Given the description of an element on the screen output the (x, y) to click on. 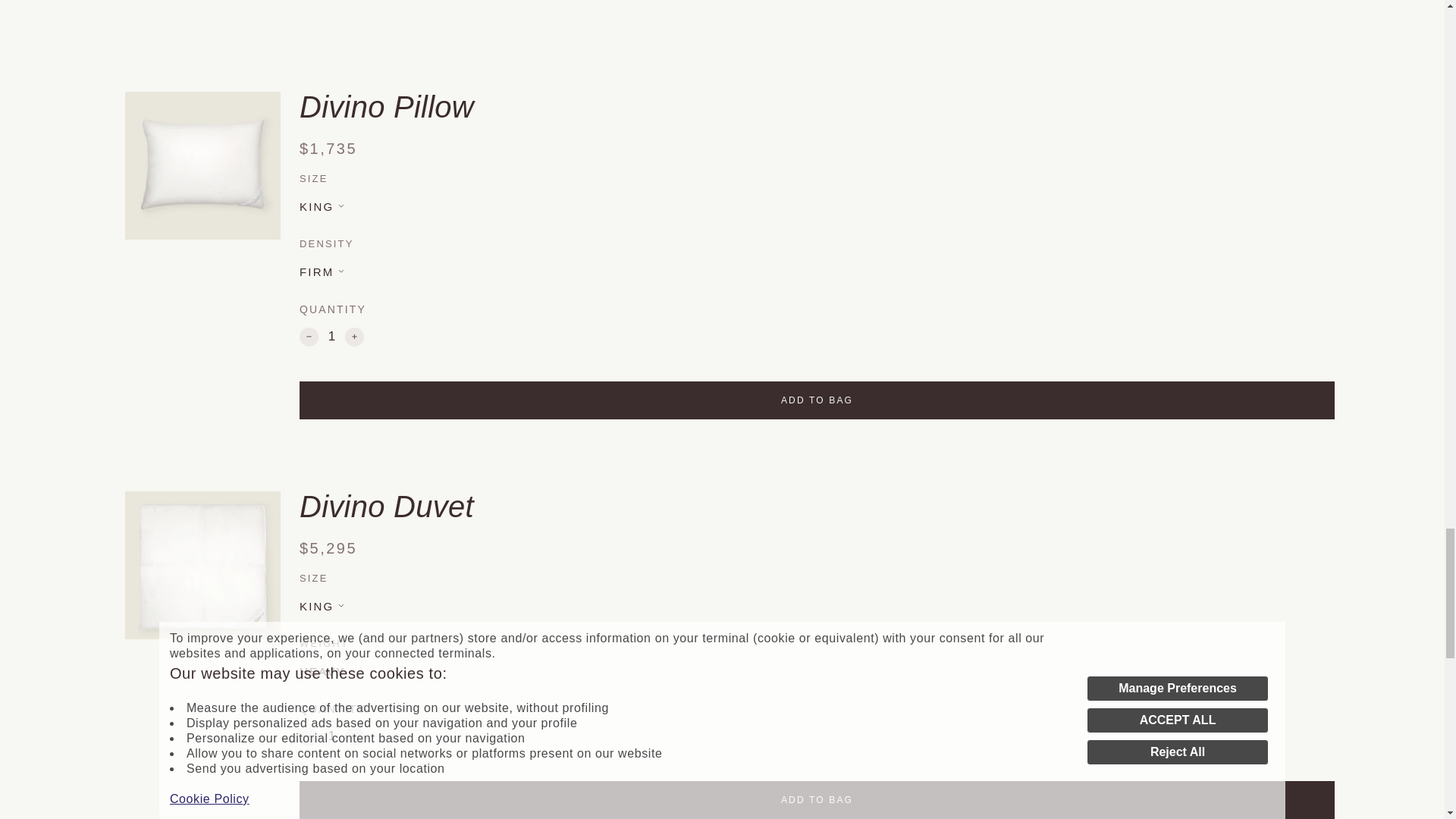
1 (331, 735)
1 (331, 336)
